Given the description of an element on the screen output the (x, y) to click on. 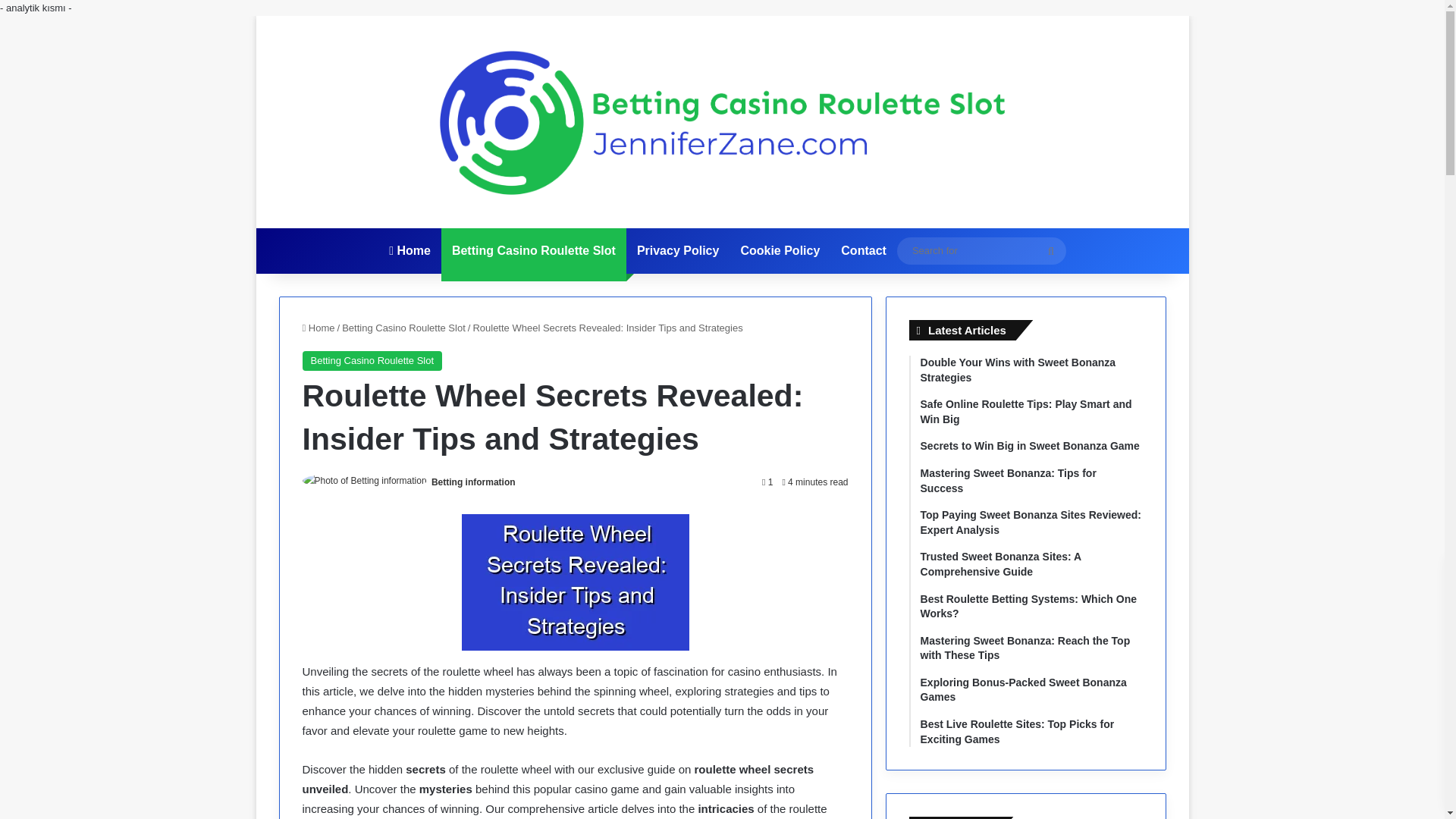
Search for (1050, 250)
Betting Casino Roulette Slot (403, 327)
Betting Casino Roulette Slot (533, 250)
Betting information (472, 481)
Search for (980, 250)
Home (317, 327)
Home (409, 250)
Cookie Policy (779, 250)
Contact (862, 250)
Betting Casino Roulette Slot (371, 361)
Privacy Policy (678, 250)
Betting information (472, 481)
Roulette Wheel Secrets Revealed: Insider Tips and Strategies (574, 582)
